Given the description of an element on the screen output the (x, y) to click on. 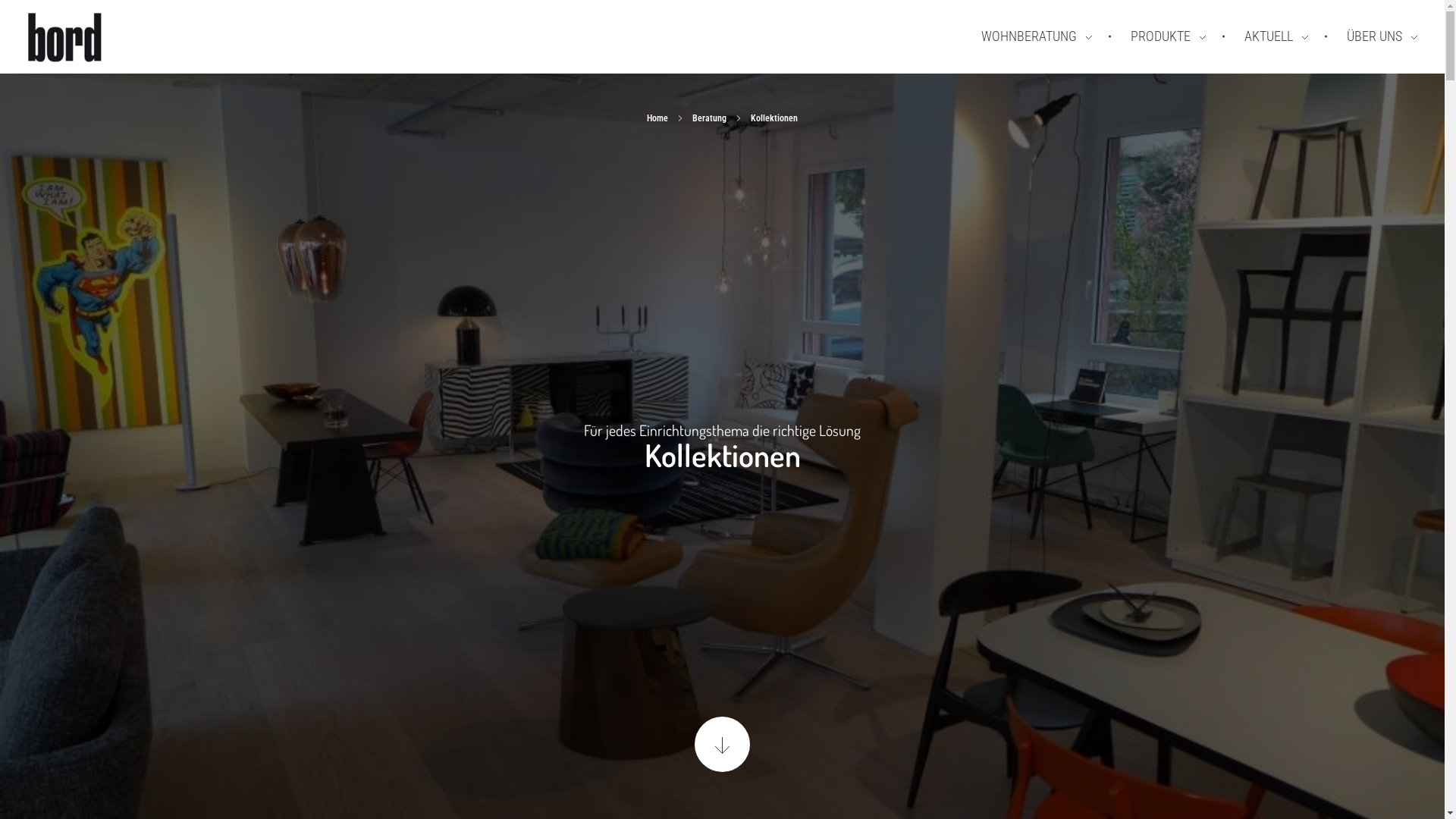
Beratung Element type: text (709, 117)
Home Element type: text (657, 117)
